Given the description of an element on the screen output the (x, y) to click on. 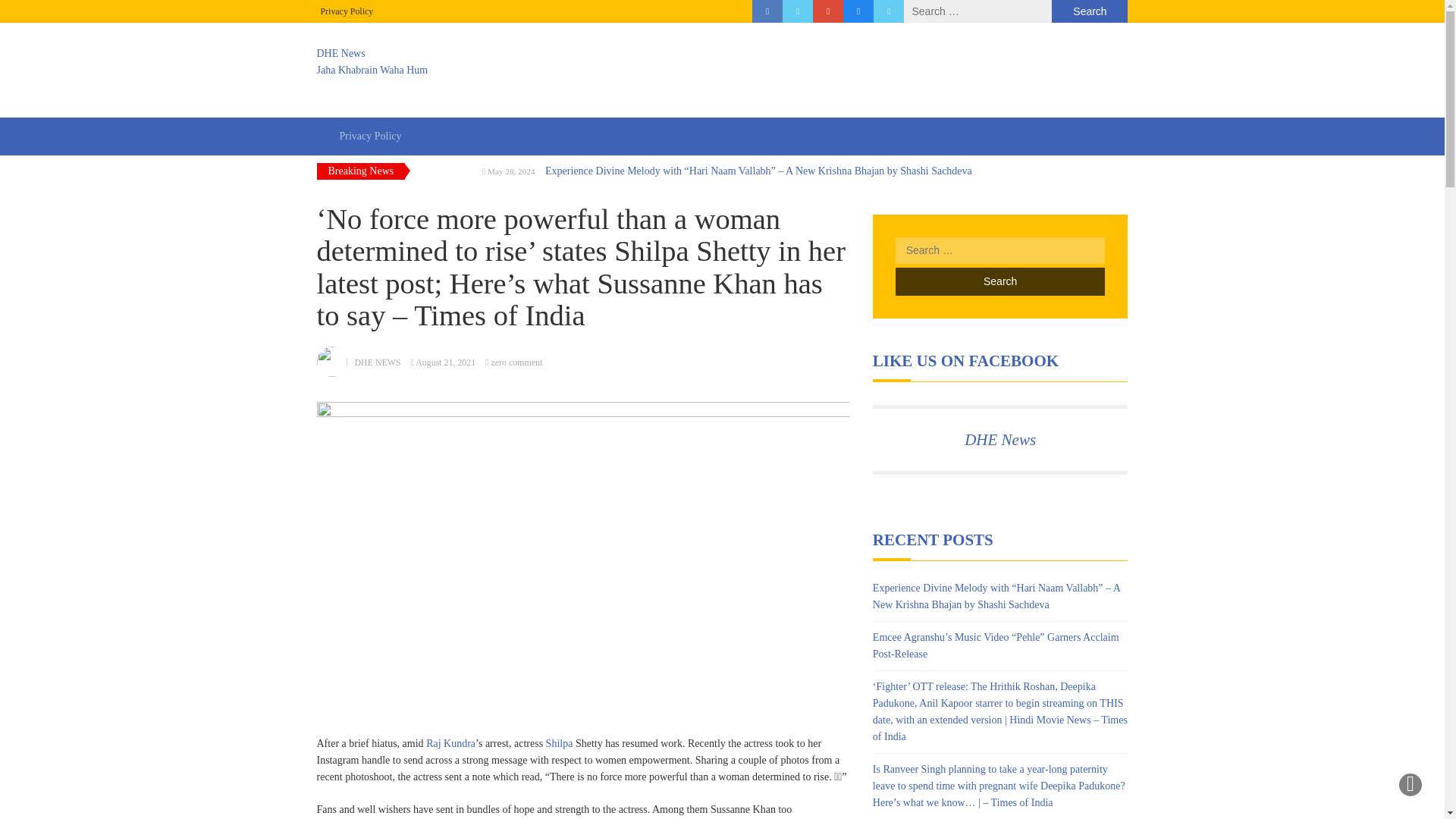
Privacy Policy (346, 10)
DHE News (999, 439)
Shilpa (559, 743)
Raj Kundra (451, 743)
DHE NEWS (378, 362)
Search (1088, 11)
Search (1088, 11)
Search (1088, 11)
Privacy Policy (346, 10)
Search (1000, 281)
Search (722, 61)
zero comment (1000, 281)
Privacy Policy (517, 362)
Privacy Policy (369, 136)
